Given the description of an element on the screen output the (x, y) to click on. 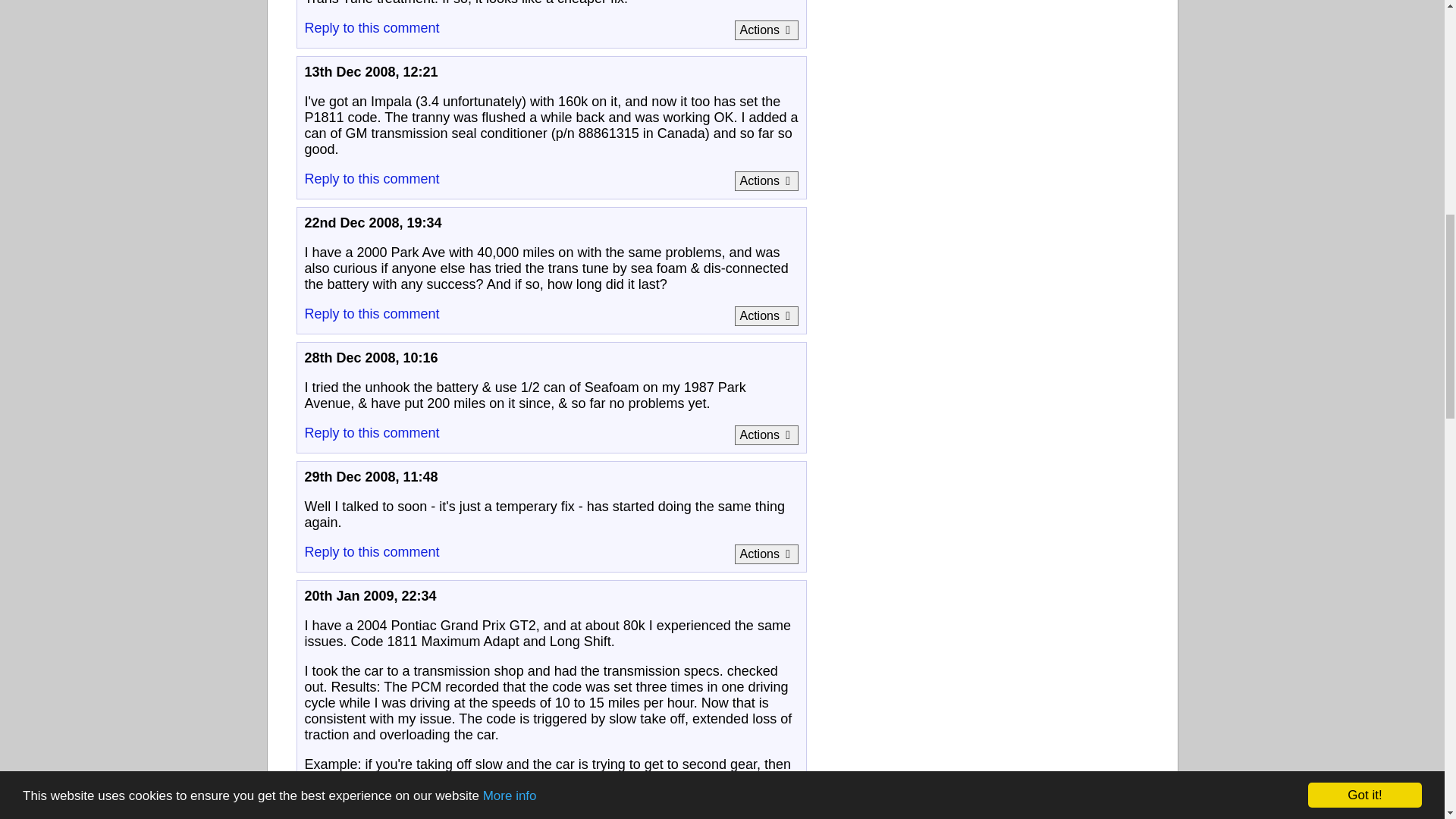
Reply to this comment (371, 178)
Reply to this comment (371, 28)
Actions (766, 30)
Got it! (1364, 49)
Actions (766, 180)
More info (510, 40)
